Given the description of an element on the screen output the (x, y) to click on. 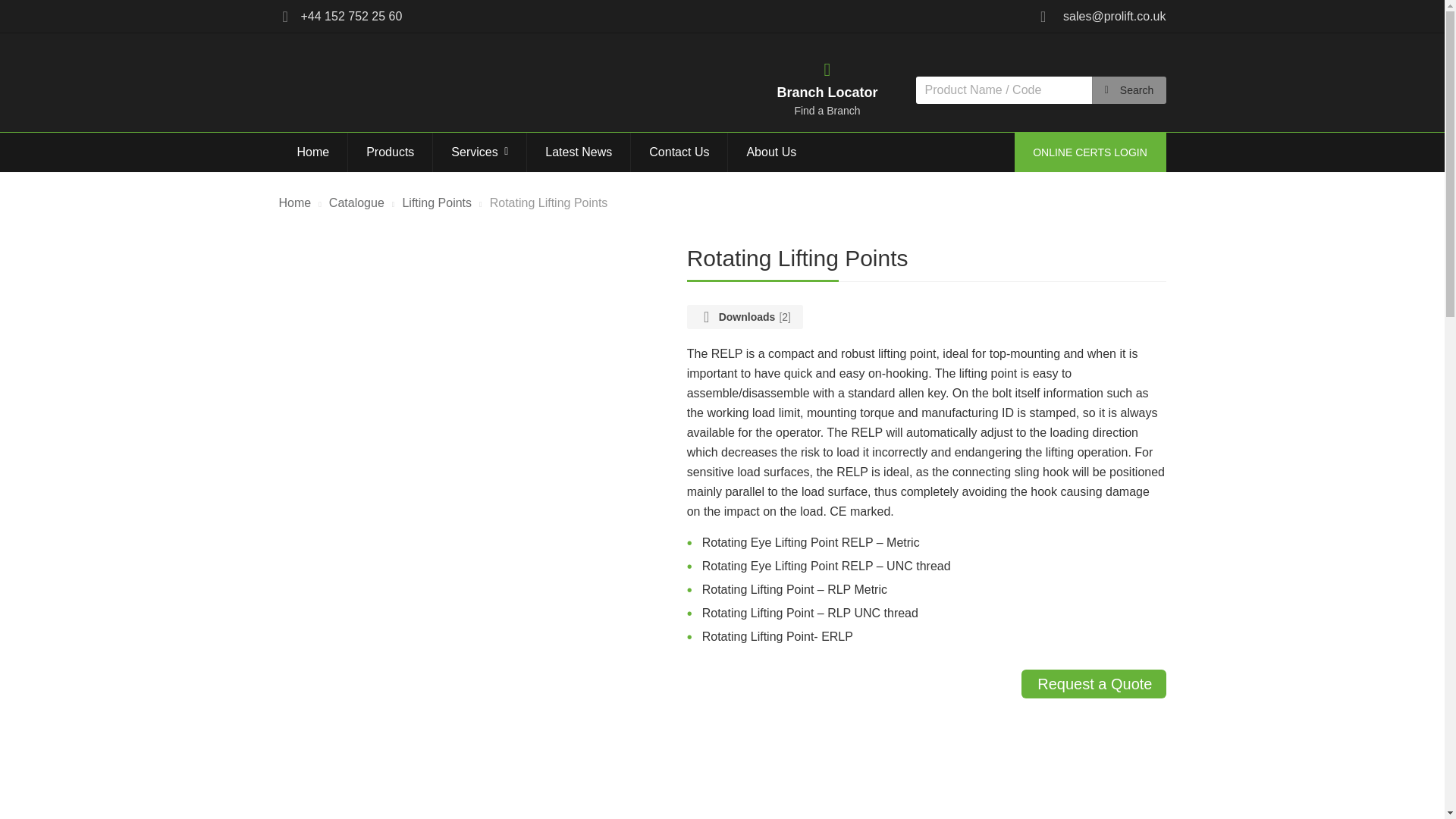
Request a Quote (1094, 683)
Home (313, 151)
Catalogue (356, 202)
Home (295, 202)
Lifting Points (436, 202)
Search (1267, 90)
Services (478, 151)
About Us (770, 151)
Downloads2 (745, 316)
Latest News (578, 151)
